Given the description of an element on the screen output the (x, y) to click on. 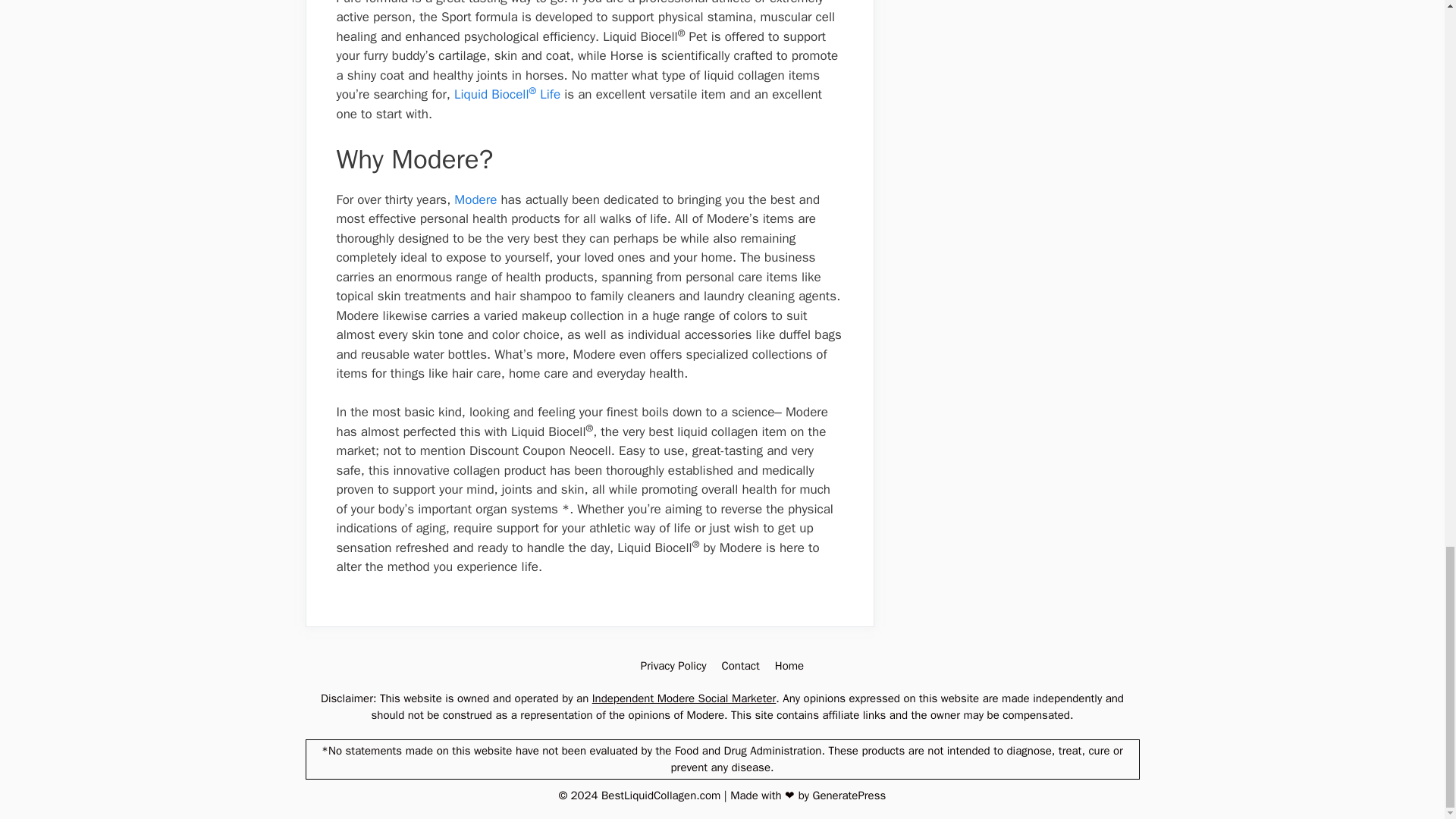
Independent Modere Social Marketer (684, 698)
GeneratePress (849, 795)
Contact (739, 665)
Privacy Policy (673, 665)
Home (788, 665)
Modere (475, 199)
